Given the description of an element on the screen output the (x, y) to click on. 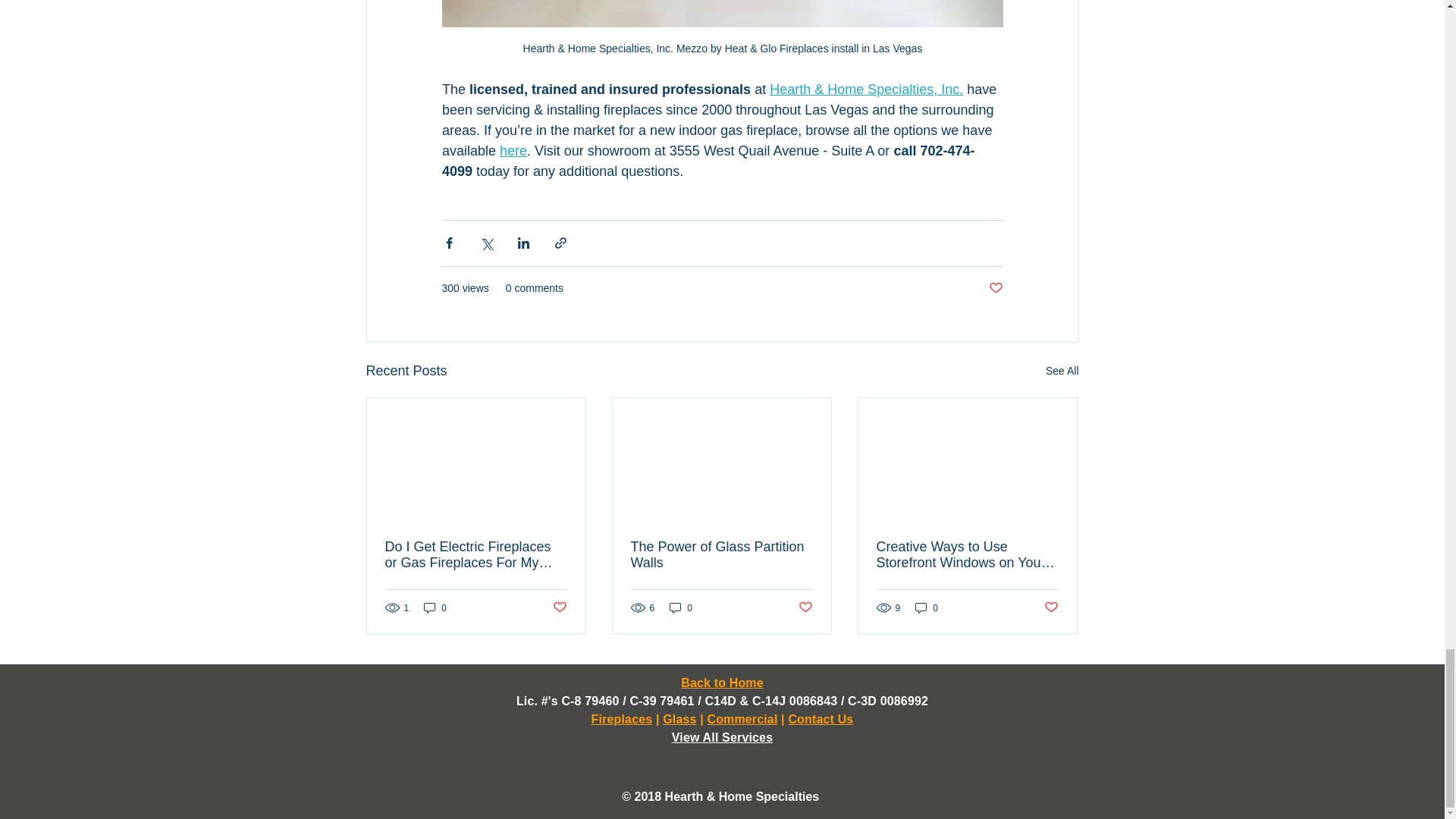
Do I Get Electric Fireplaces or Gas Fireplaces For My Home? (476, 554)
0 (435, 607)
Post not marked as liked (804, 607)
Back to Home (721, 682)
Post not marked as liked (995, 288)
Commercial (741, 718)
Post not marked as liked (558, 607)
See All (1061, 371)
Fireplaces (621, 718)
Creative Ways to Use Storefront Windows on Your Property (967, 554)
